Given the description of an element on the screen output the (x, y) to click on. 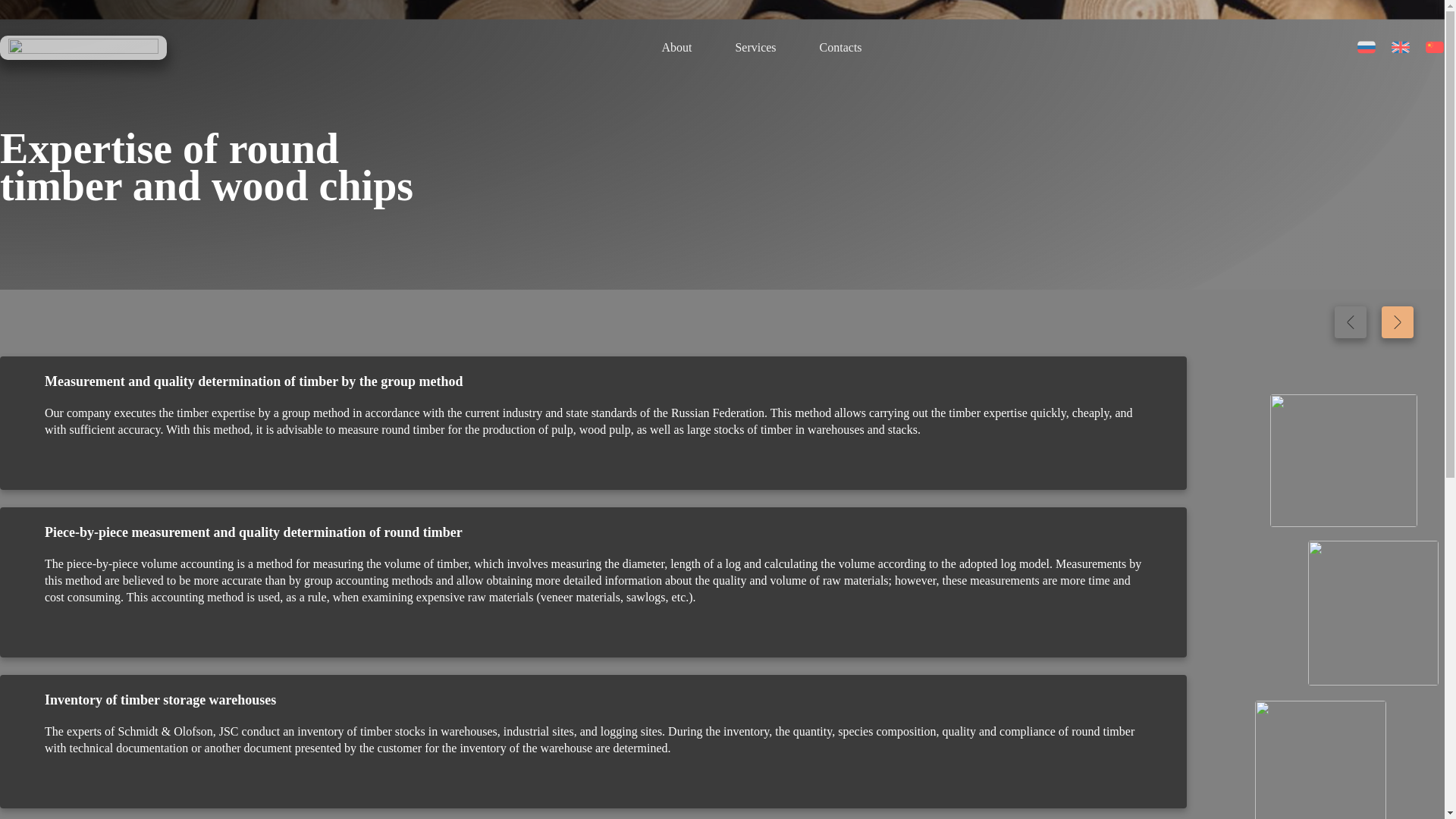
Services (755, 47)
Contacts (840, 47)
About (676, 47)
